Given the description of an element on the screen output the (x, y) to click on. 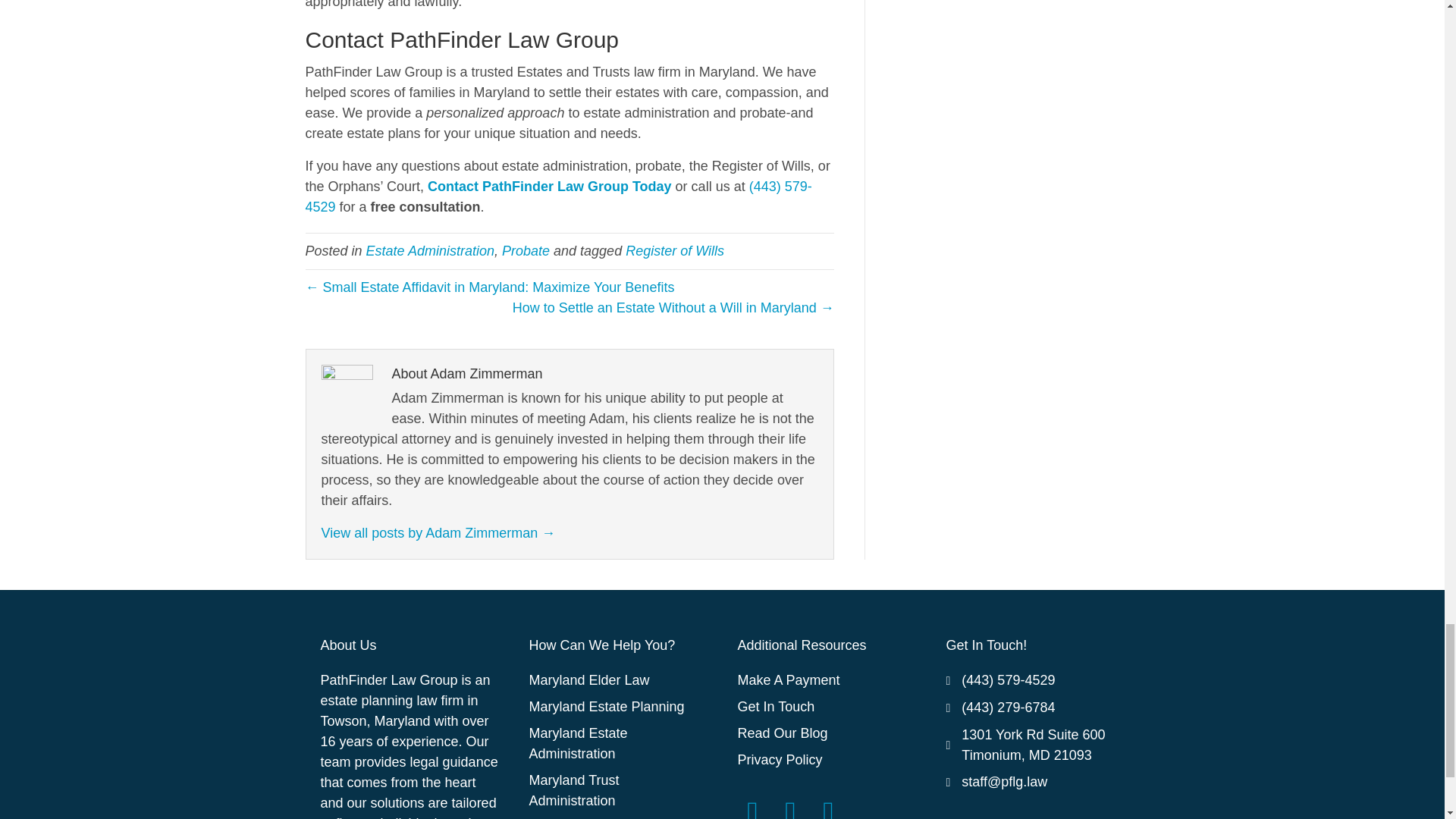
Register of Wills (674, 250)
Probate (526, 250)
Contact PathFinder Law Group Today (549, 186)
Estate Administration (430, 250)
